Given the description of an element on the screen output the (x, y) to click on. 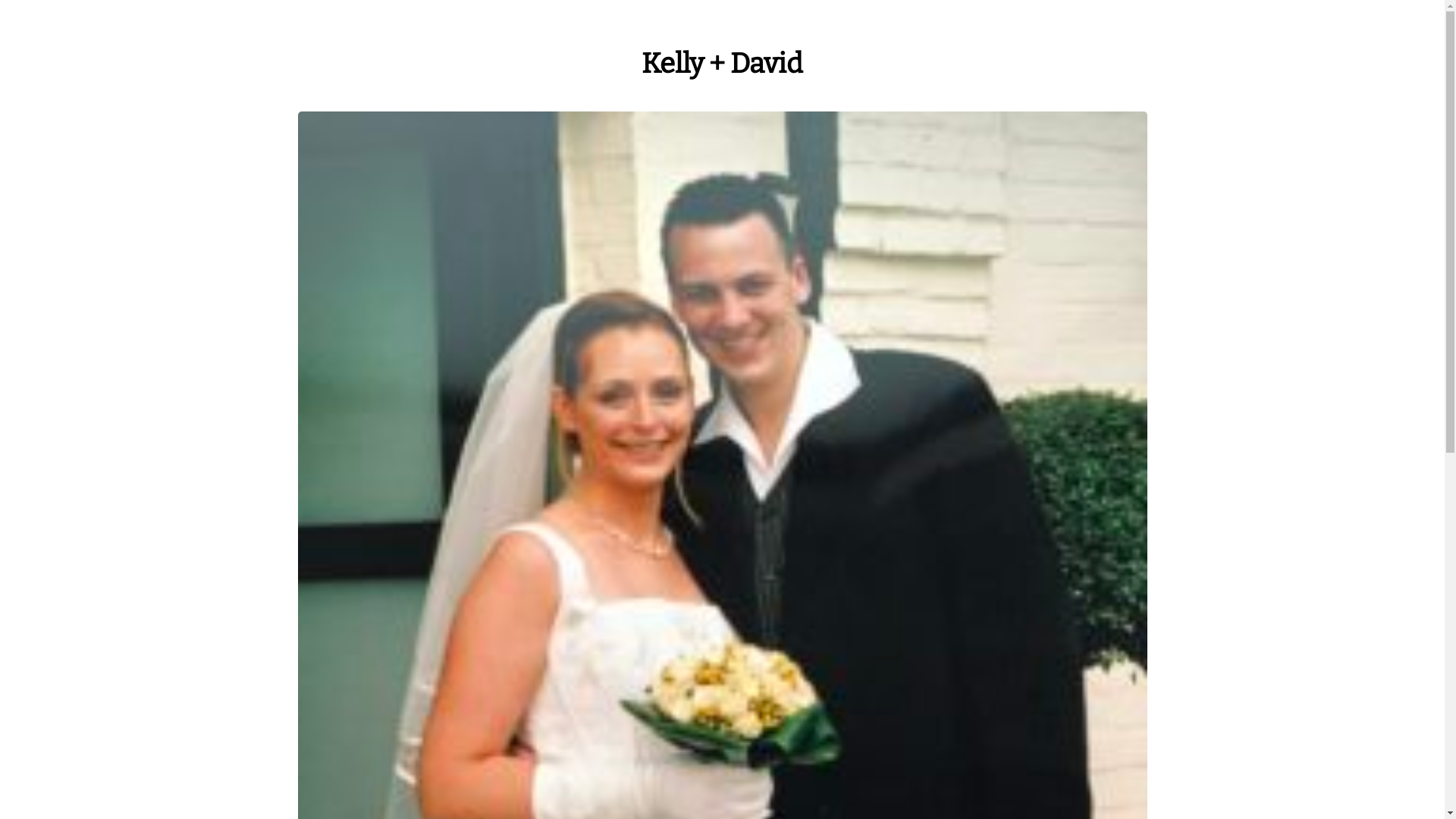
Kelly + David Element type: text (722, 63)
